Given the description of an element on the screen output the (x, y) to click on. 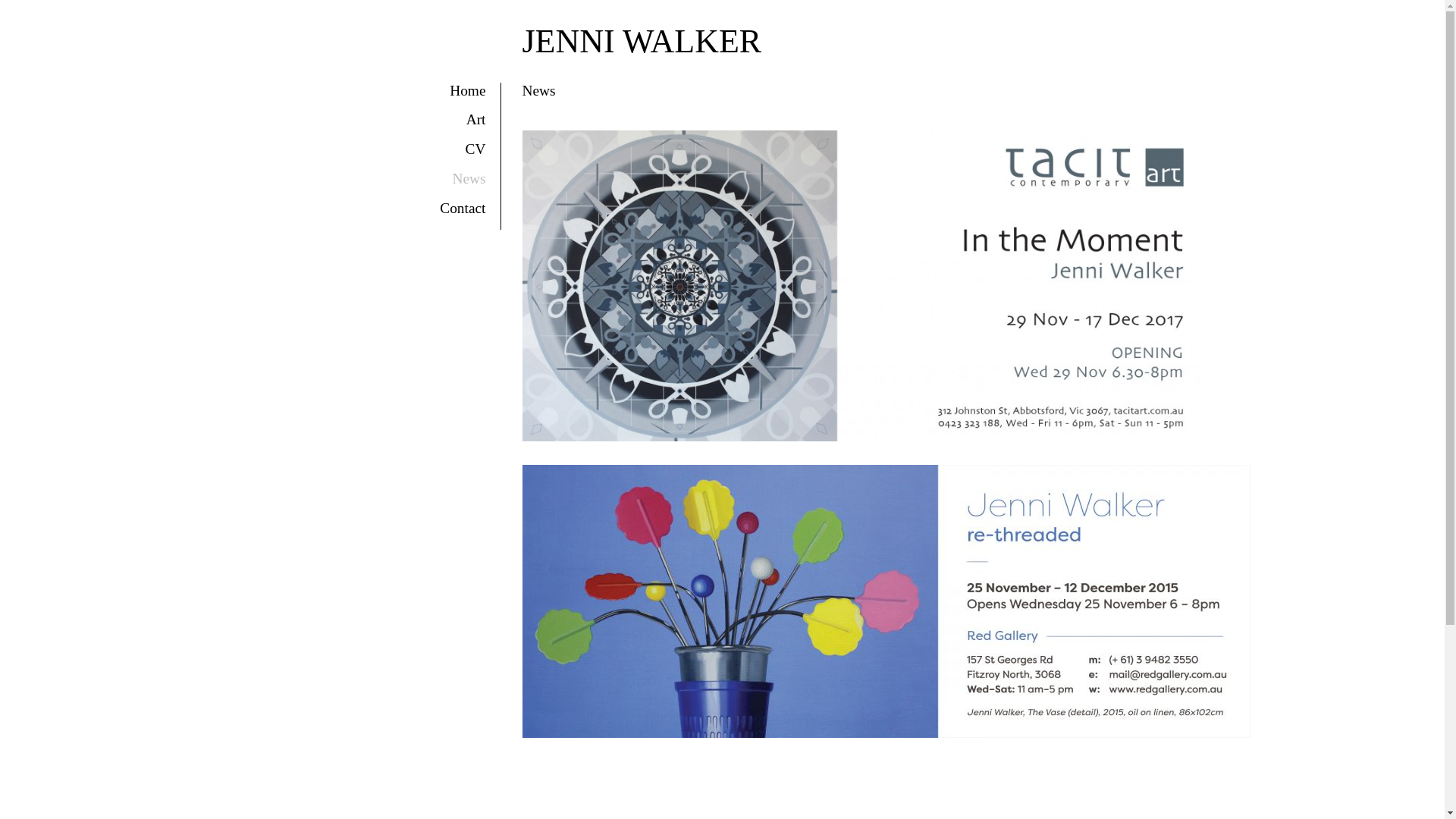
CV Element type: text (475, 148)
Art Element type: text (476, 119)
News Element type: text (468, 178)
Home Element type: text (467, 90)
Contact Element type: text (462, 208)
